Given the description of an element on the screen output the (x, y) to click on. 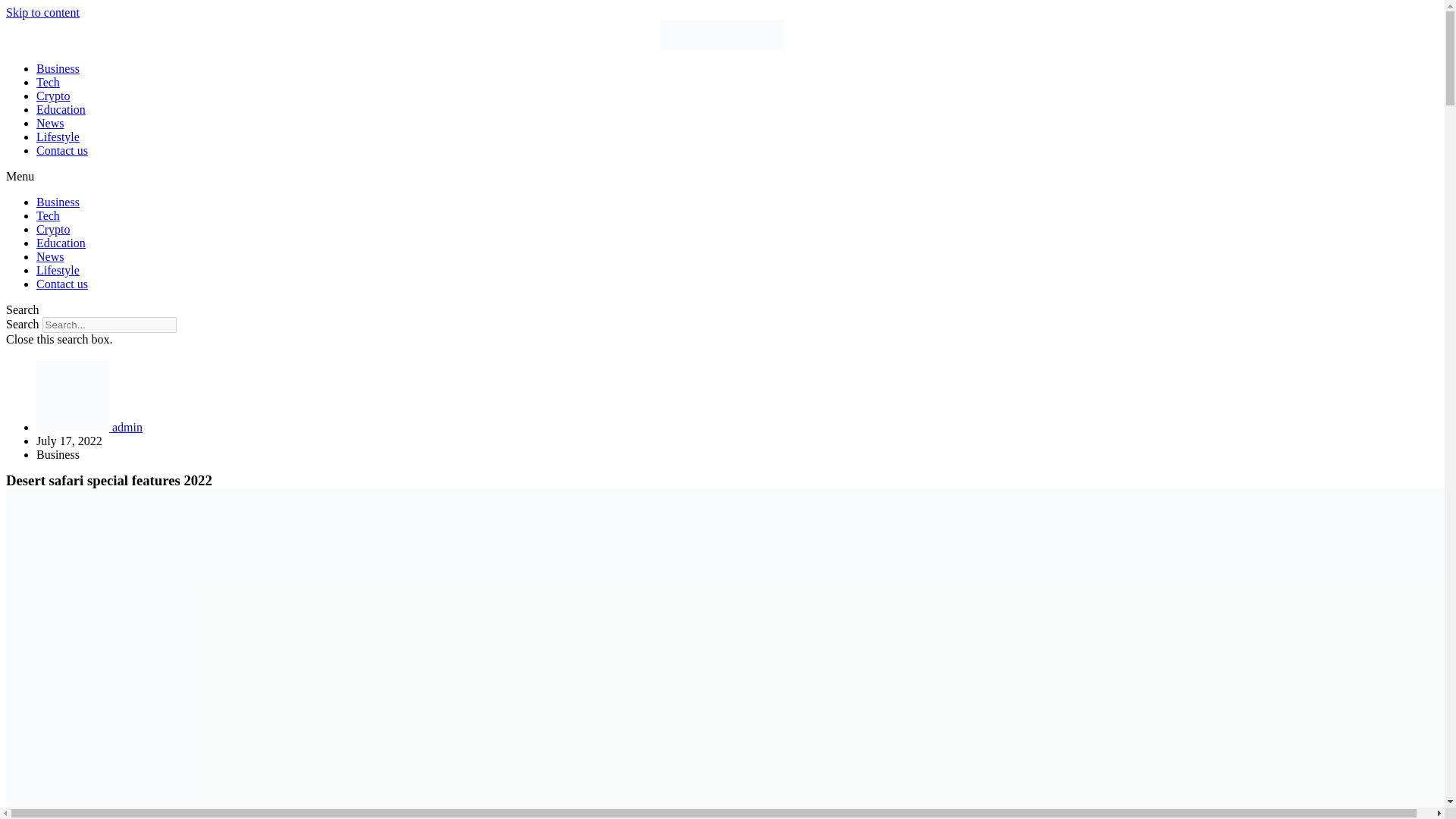
Skip to content (42, 11)
Lifestyle (58, 136)
Tech (47, 82)
Lifestyle (58, 269)
News (50, 256)
Crypto (52, 95)
Education (60, 109)
Education (60, 242)
Crypto (52, 228)
Business (58, 201)
